Given the description of an element on the screen output the (x, y) to click on. 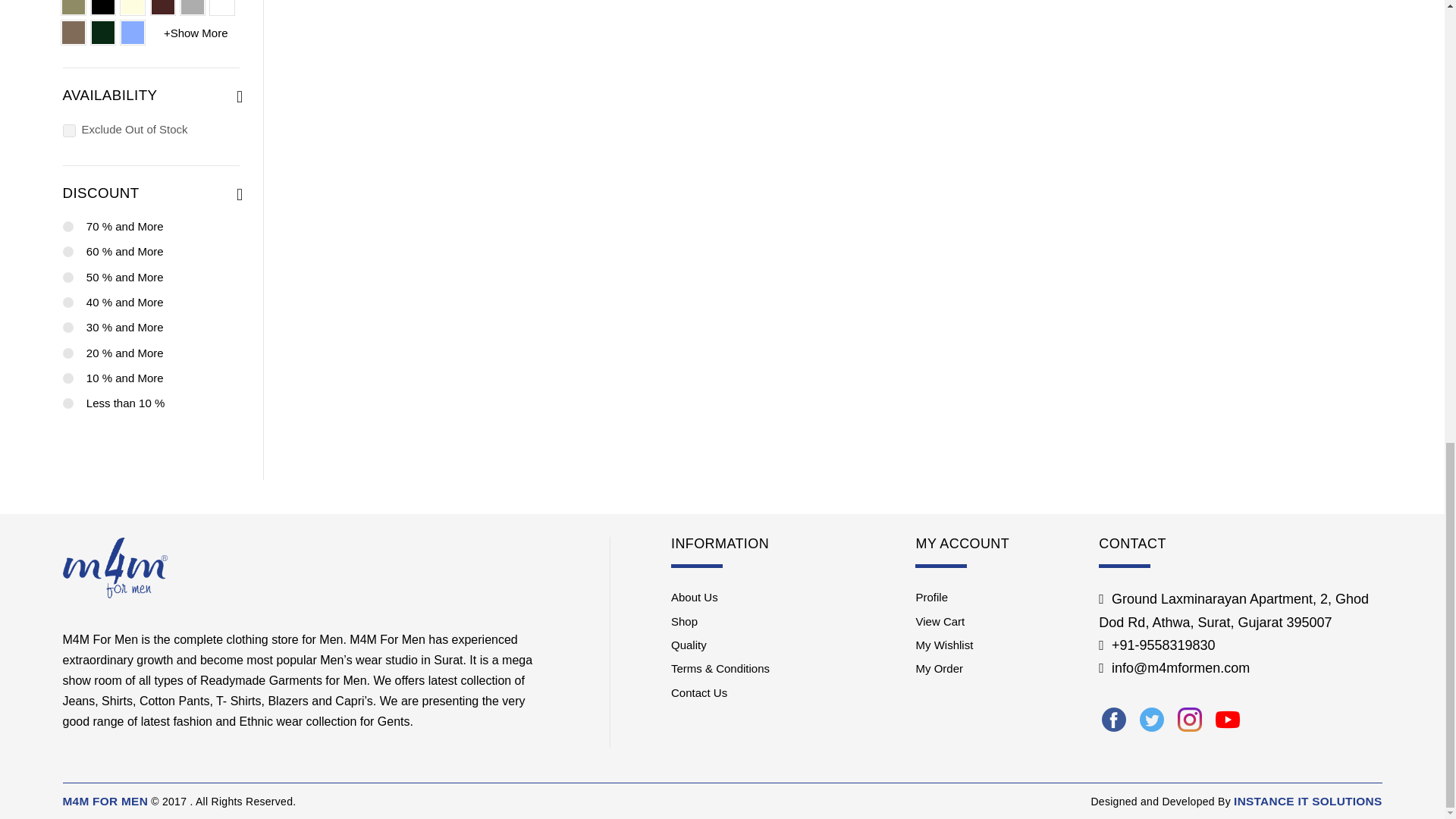
BROWN (73, 7)
LIGHT BROWNISH (73, 32)
Black (103, 7)
cream (132, 7)
SKY BLUE (191, 7)
Instance IT Solutions (1307, 800)
White (221, 7)
dark green (103, 32)
Dark Brown (162, 7)
Light Blue (132, 32)
